Given the description of an element on the screen output the (x, y) to click on. 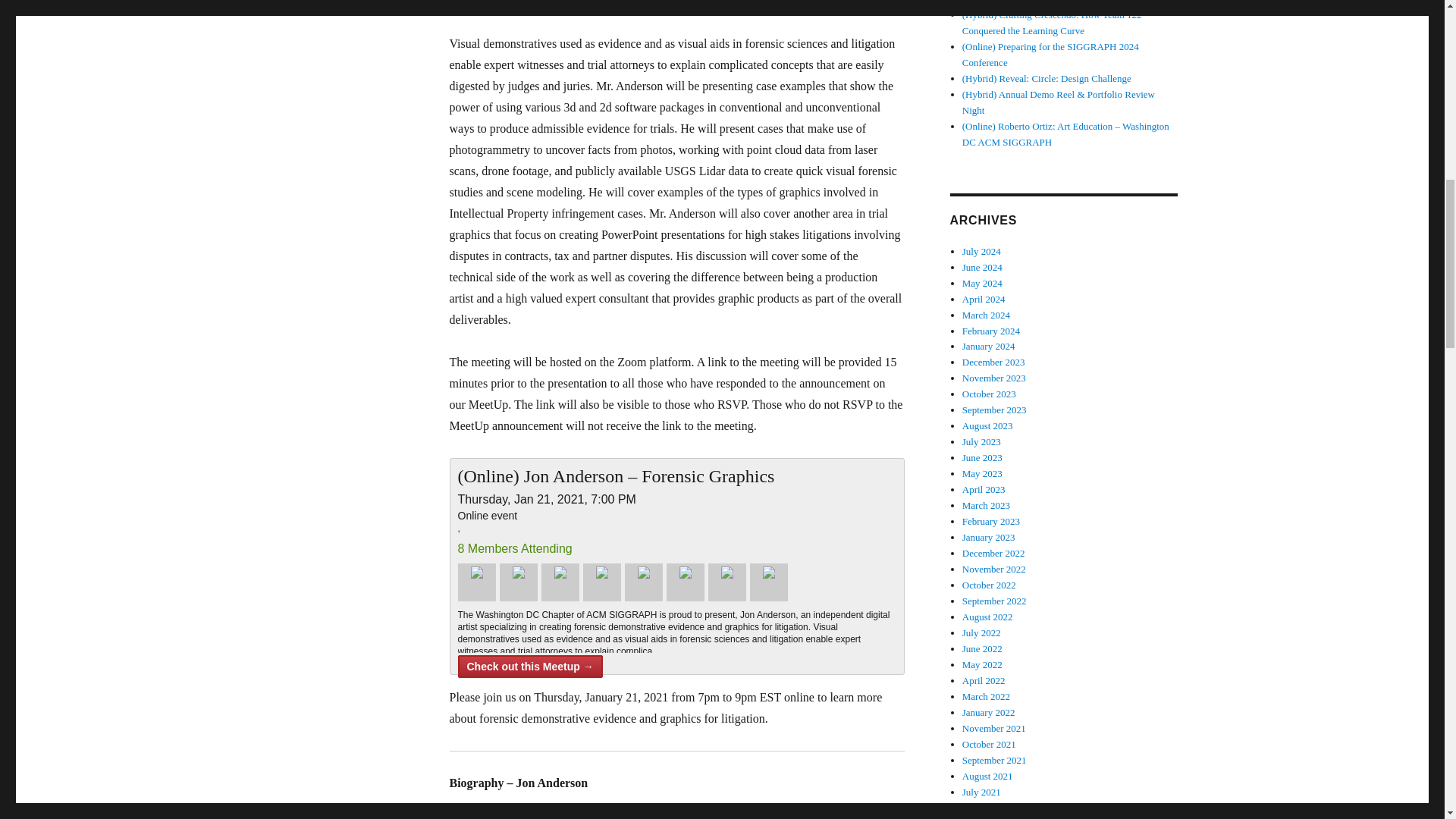
May 2024 (982, 283)
June 2024 (982, 266)
April 2024 (984, 298)
July 2024 (981, 251)
March 2024 (986, 315)
